Given the description of an element on the screen output the (x, y) to click on. 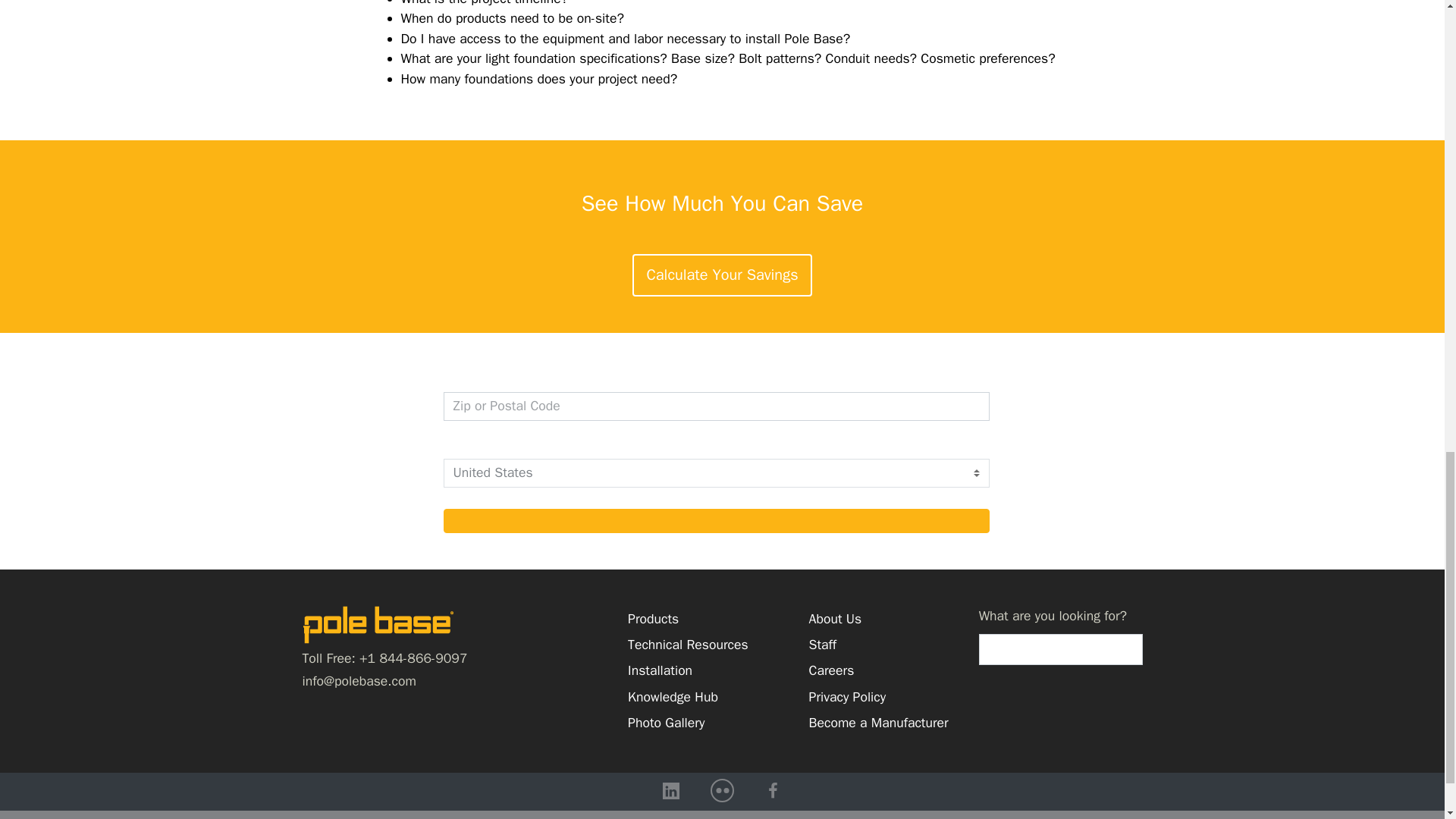
Careers (879, 670)
Photo Gallery (687, 722)
Staff (879, 644)
Become a Manufacturer (879, 722)
Calculate Your Savings (720, 274)
Knowledge Hub (687, 696)
About Us (879, 618)
Privacy Policy (879, 696)
Products (687, 618)
Installation (687, 670)
